Given the description of an element on the screen output the (x, y) to click on. 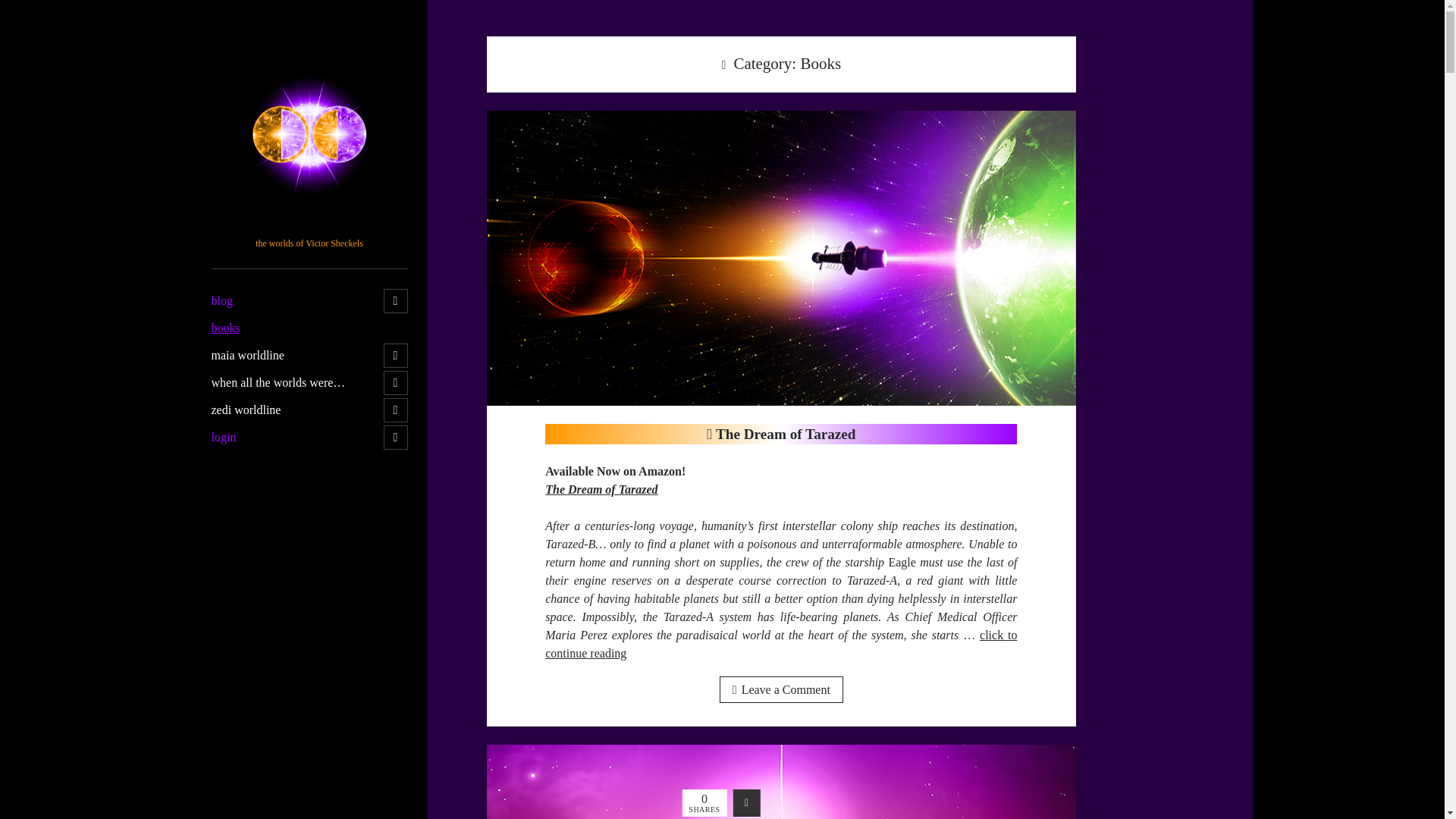
zedi worldline (246, 410)
maia worldline (247, 355)
open child menu (395, 355)
open child menu (395, 437)
books (225, 328)
open child menu (395, 410)
login (223, 437)
open child menu (395, 300)
open child menu (395, 382)
blog (221, 300)
Tarazedi (309, 225)
